Given the description of an element on the screen output the (x, y) to click on. 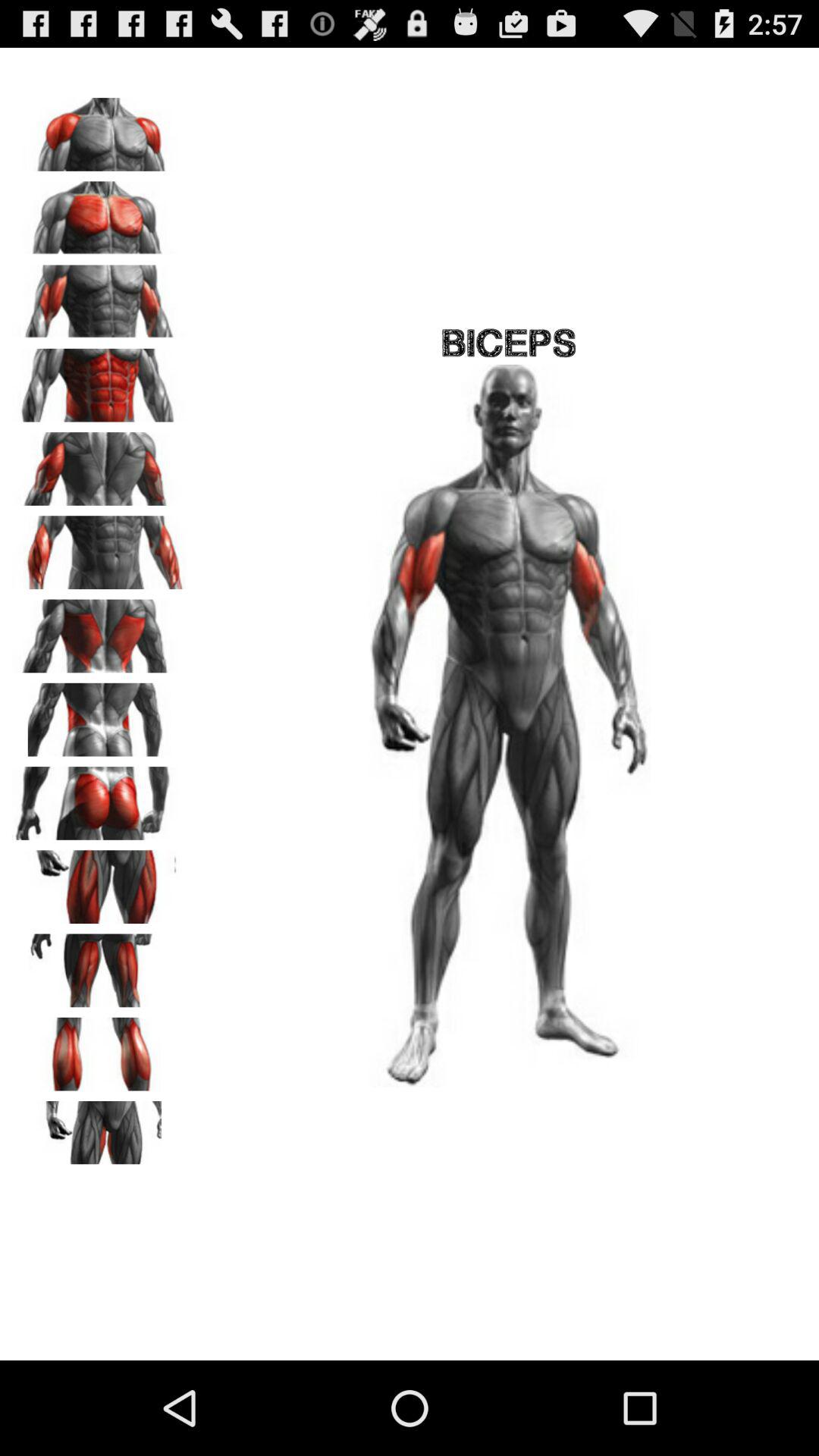
view the muscle group (99, 798)
